Given the description of an element on the screen output the (x, y) to click on. 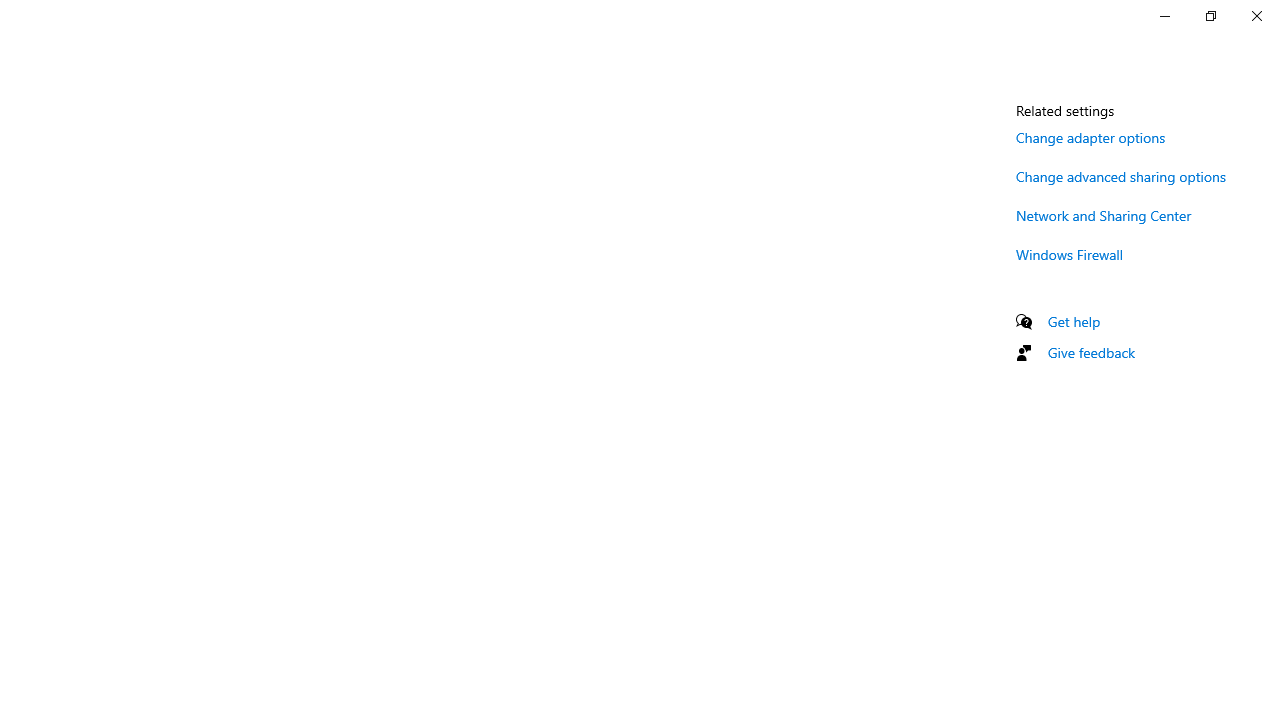
Change advanced sharing options (1121, 176)
Get help (1074, 321)
Change adapter options (1091, 137)
Minimize Settings (1164, 15)
Windows Firewall (1069, 254)
Close Settings (1256, 15)
Restore Settings (1210, 15)
Give feedback (1091, 352)
Network and Sharing Center (1103, 214)
